Given the description of an element on the screen output the (x, y) to click on. 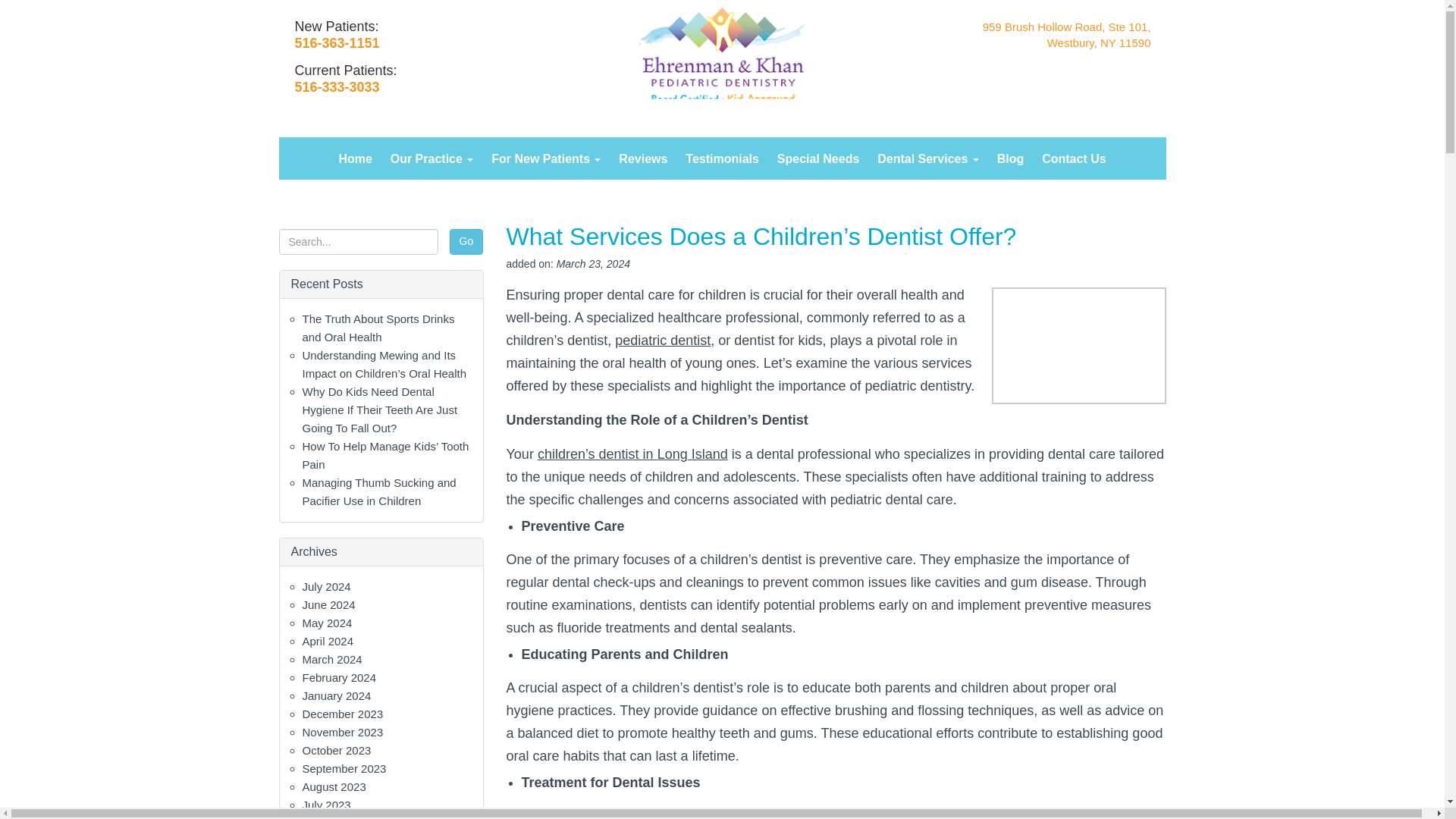
Special Needs (818, 159)
Home (354, 159)
516-333-3033 (336, 87)
pediatric dentist (662, 340)
Testimonials (722, 159)
Our Practice (431, 159)
The Truth About Sports Drinks and Oral Health (377, 327)
516-363-1151 (336, 43)
For New Patients (545, 159)
